Given the description of an element on the screen output the (x, y) to click on. 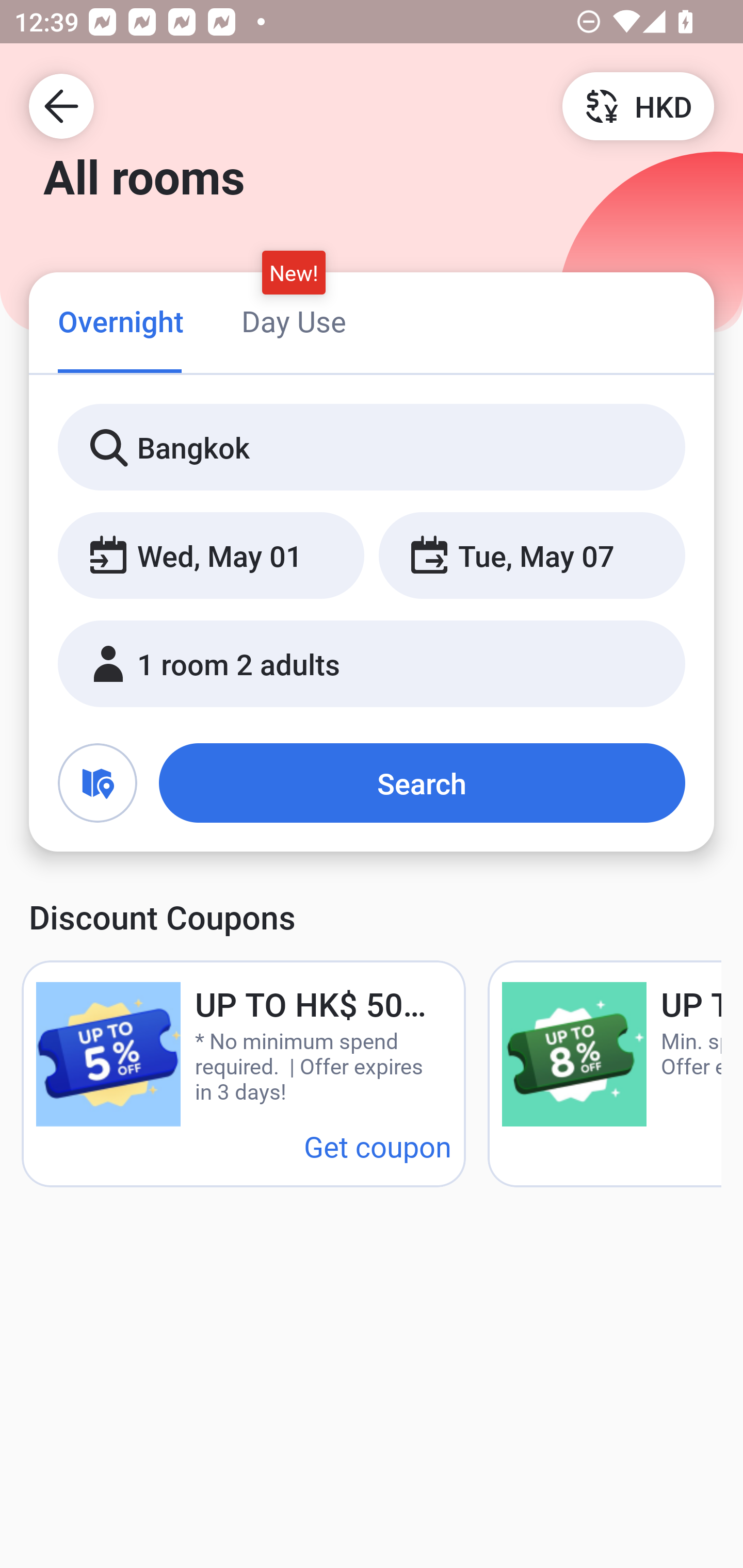
HKD (638, 105)
New! (294, 272)
Day Use (293, 321)
Bangkok (371, 447)
Wed, May 01 (210, 555)
Tue, May 07 (531, 555)
1 room 2 adults (371, 663)
Search (422, 783)
Get coupon (377, 1146)
